Given the description of an element on the screen output the (x, y) to click on. 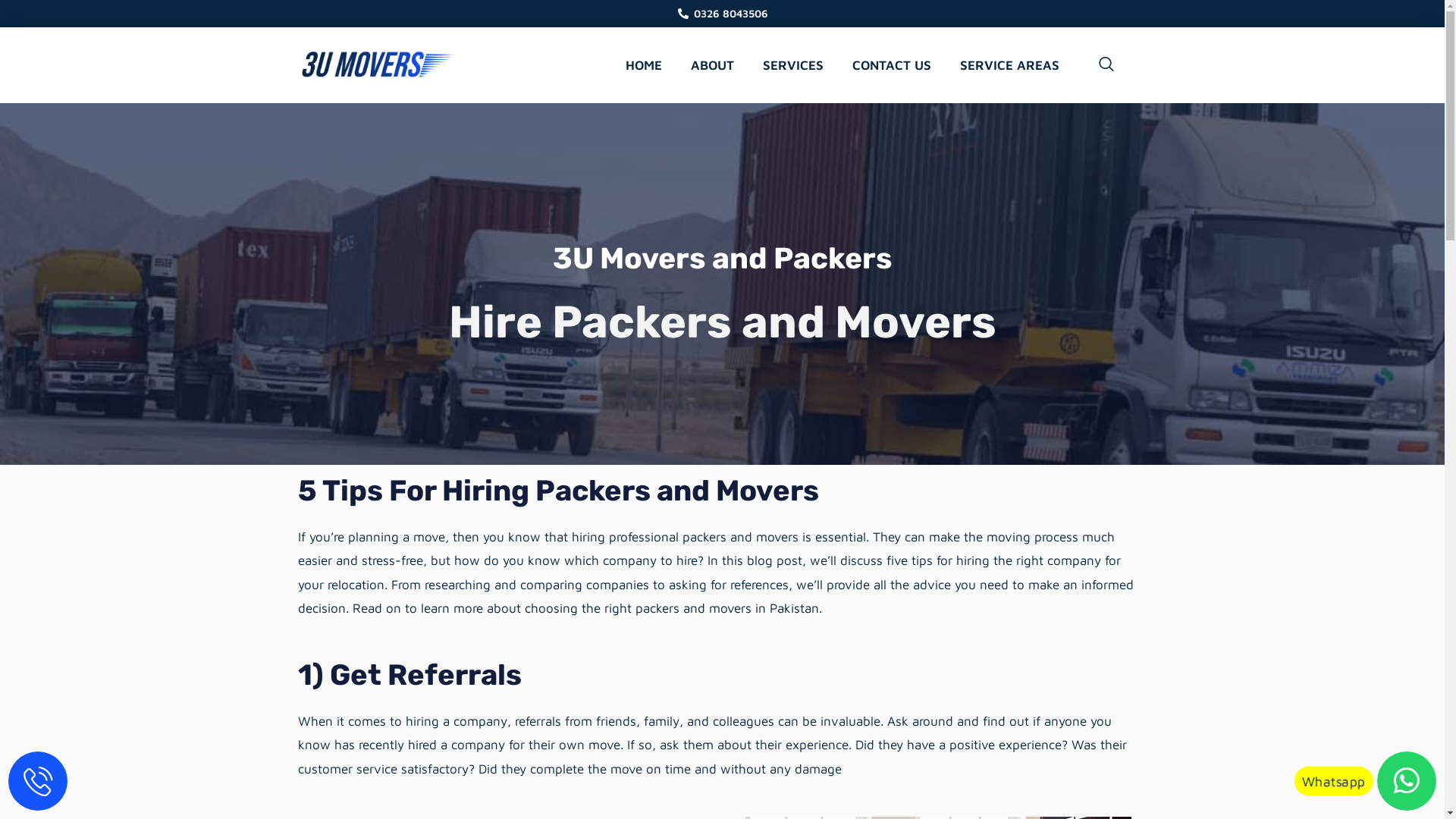
packers and movers Element type: text (740, 536)
0326 8043506 Element type: text (722, 13)
ABOUT Element type: text (712, 64)
SERVICES Element type: text (792, 64)
CONTACT US Element type: text (891, 64)
Icon-phone1 Element type: text (30, 774)
HOME Element type: text (643, 64)
SERVICE AREAS Element type: text (1009, 64)
Whatsapp Element type: text (1399, 774)
